Given the description of an element on the screen output the (x, y) to click on. 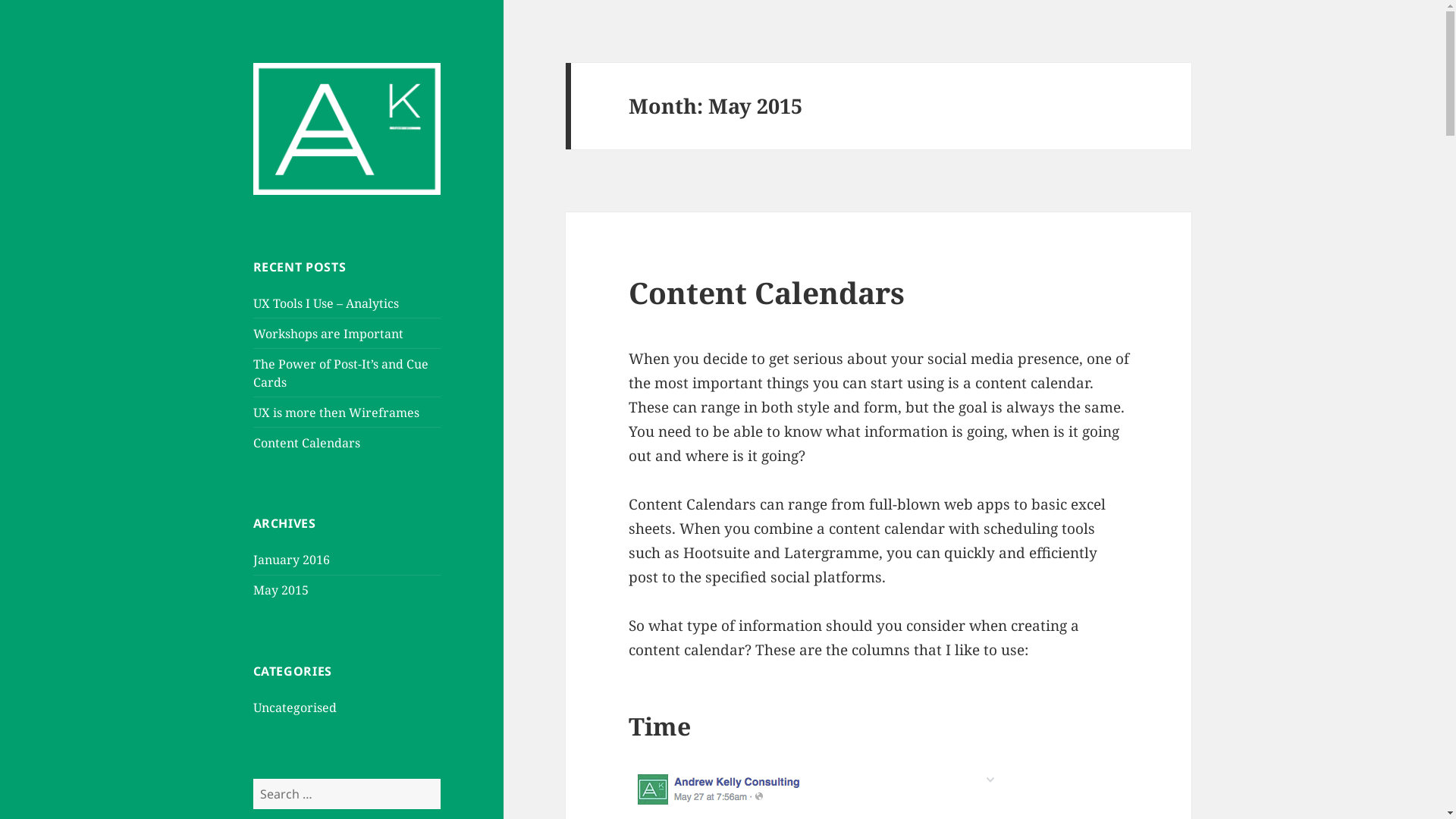
Uncategorised Element type: text (294, 707)
Content Calendars Element type: text (306, 442)
May 2015 Element type: text (280, 589)
Workshops are Important Element type: text (328, 333)
Search Element type: text (439, 778)
Content Calendars Element type: text (766, 292)
Andrew Kelly Consulting Element type: text (319, 86)
UX is more then Wireframes Element type: text (336, 412)
January 2016 Element type: text (291, 559)
